Given the description of an element on the screen output the (x, y) to click on. 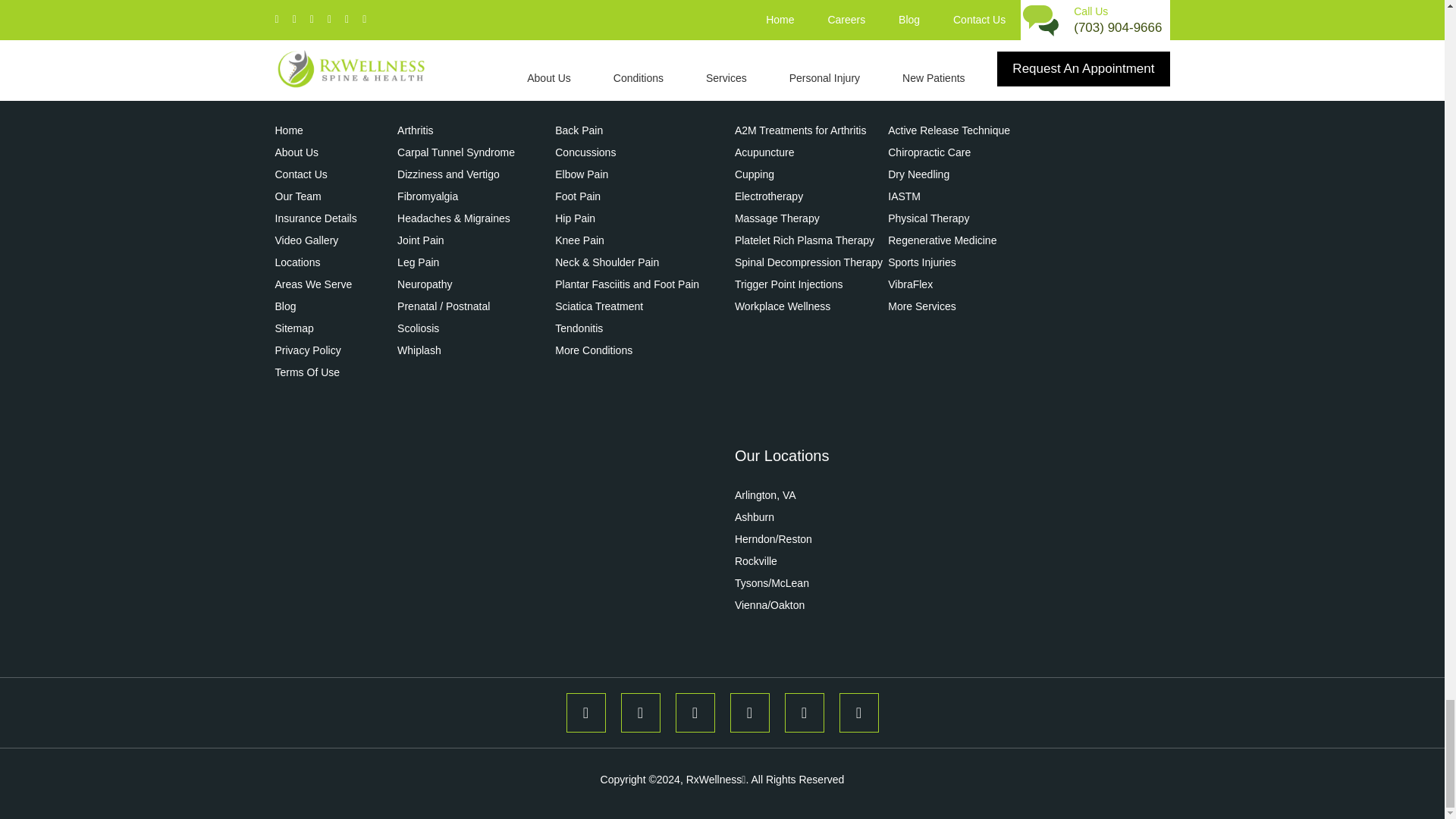
Twitter (804, 712)
Google (748, 712)
Yelp (694, 712)
Instagram (639, 712)
Linkedin (857, 712)
Facebook (585, 712)
